Given the description of an element on the screen output the (x, y) to click on. 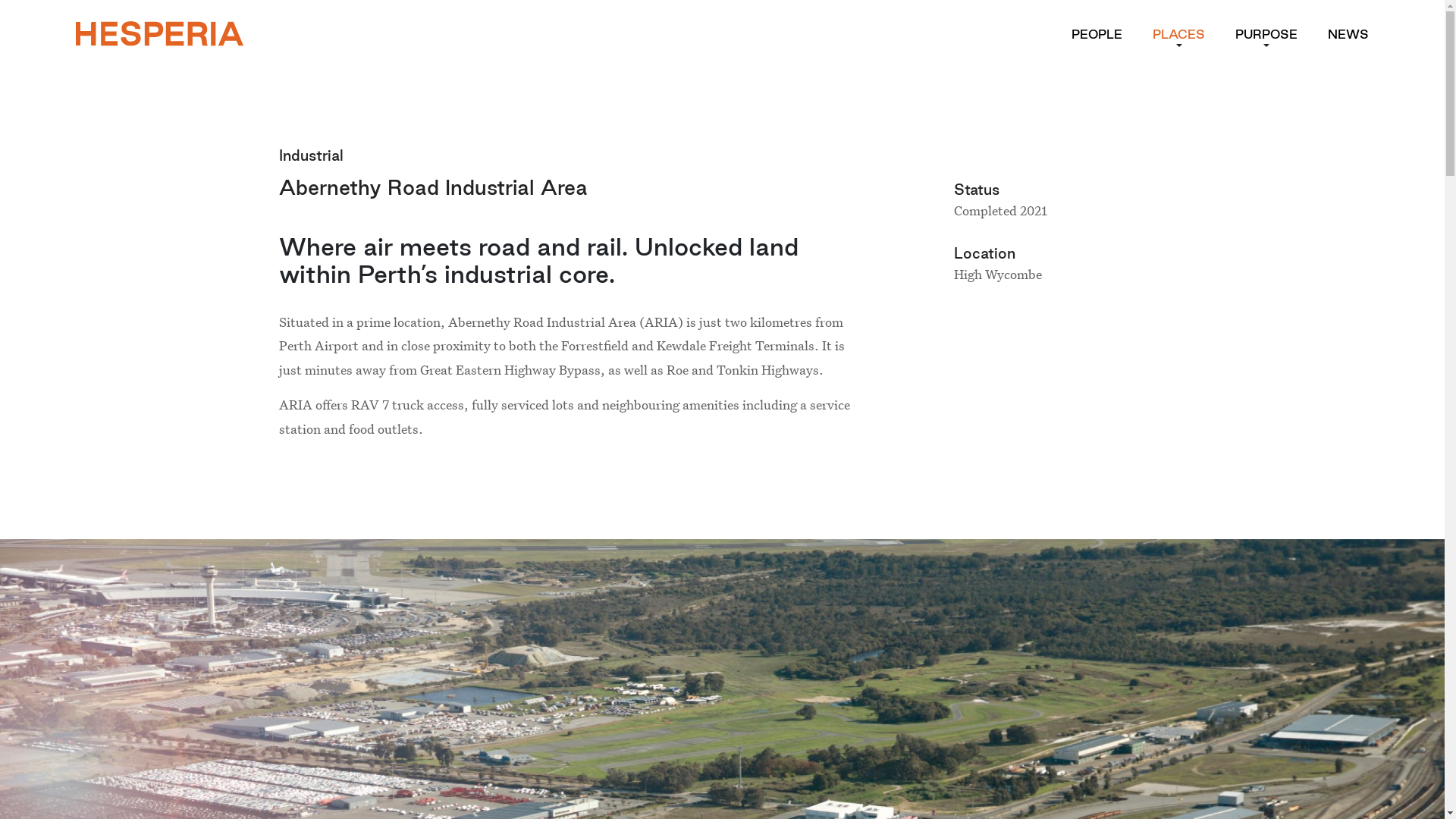
PURPOSE Element type: text (1266, 33)
PEOPLE Element type: text (1096, 33)
PLACES Element type: text (1178, 33)
NEWS Element type: text (1347, 33)
